Given the description of an element on the screen output the (x, y) to click on. 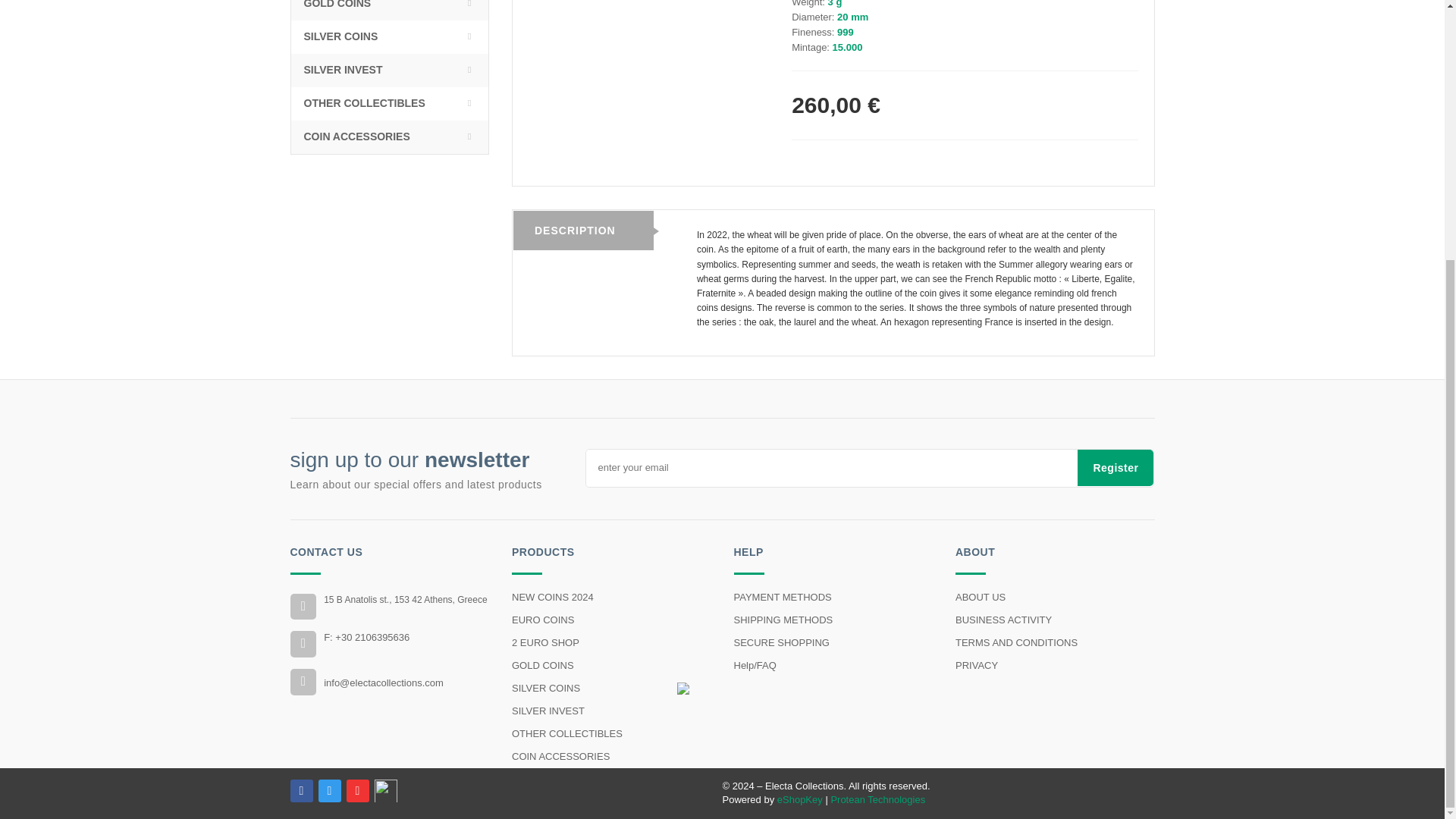
EURO COINS (611, 620)
Facebook (301, 790)
SECURE SHOPPING (833, 642)
PRIVACY (1054, 665)
SHIPPING METHODS (833, 620)
SILVER INVEST (611, 711)
NEW COINS 2024 (611, 597)
SILVER COINS (611, 688)
2 EURO SHOP (611, 642)
OTHER COLLECTIBLES (611, 733)
BUSINESS ACTIVITY (1054, 620)
Twitter (329, 790)
COIN ACCESSORIES (611, 756)
ABOUT US (1054, 597)
Youtube (357, 790)
